Given the description of an element on the screen output the (x, y) to click on. 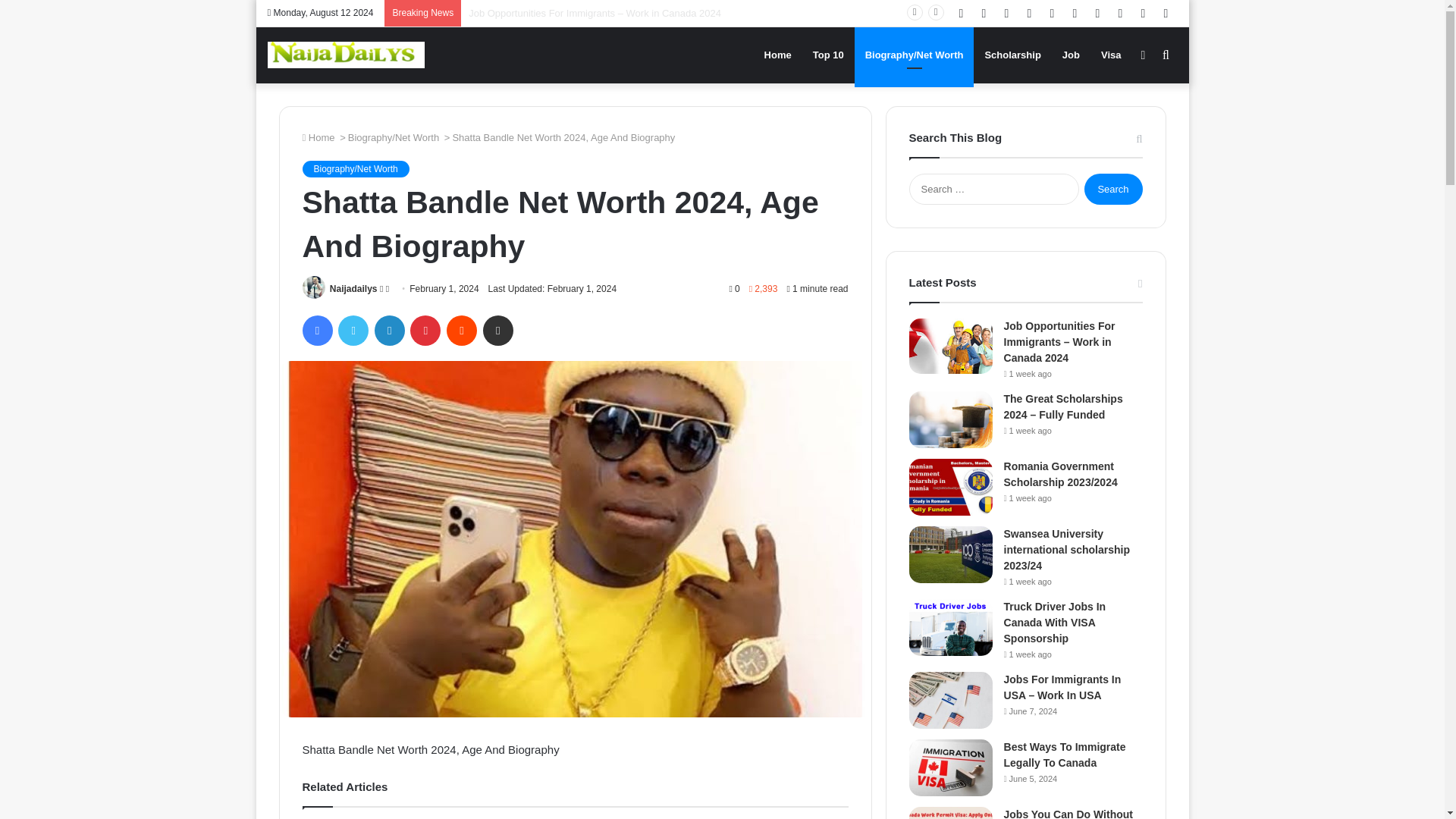
Reddit (461, 330)
Naijadailys (353, 288)
Search (1113, 188)
LinkedIn (389, 330)
Facebook (316, 330)
Scholarship (1012, 54)
Facebook (316, 330)
Share via Email (498, 330)
Search (1113, 188)
LinkedIn (389, 330)
